Given the description of an element on the screen output the (x, y) to click on. 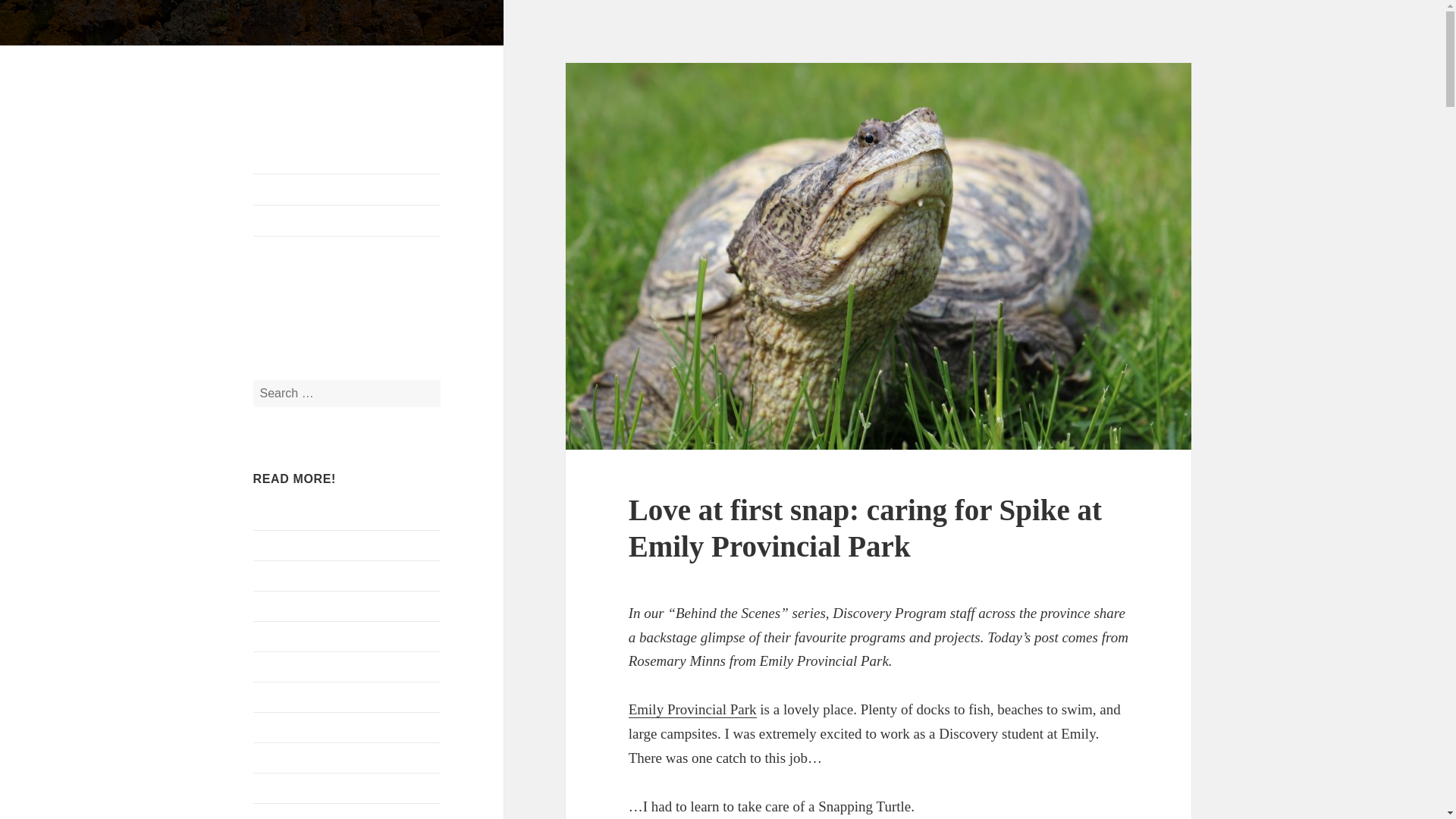
YouTube Channel (347, 317)
Birding (271, 666)
Camping (275, 697)
Backcountry (284, 605)
Ontario Parks (347, 189)
Careers in Parks (293, 727)
Cultural Heritage (295, 757)
Parks Blog (306, 74)
